Given the description of an element on the screen output the (x, y) to click on. 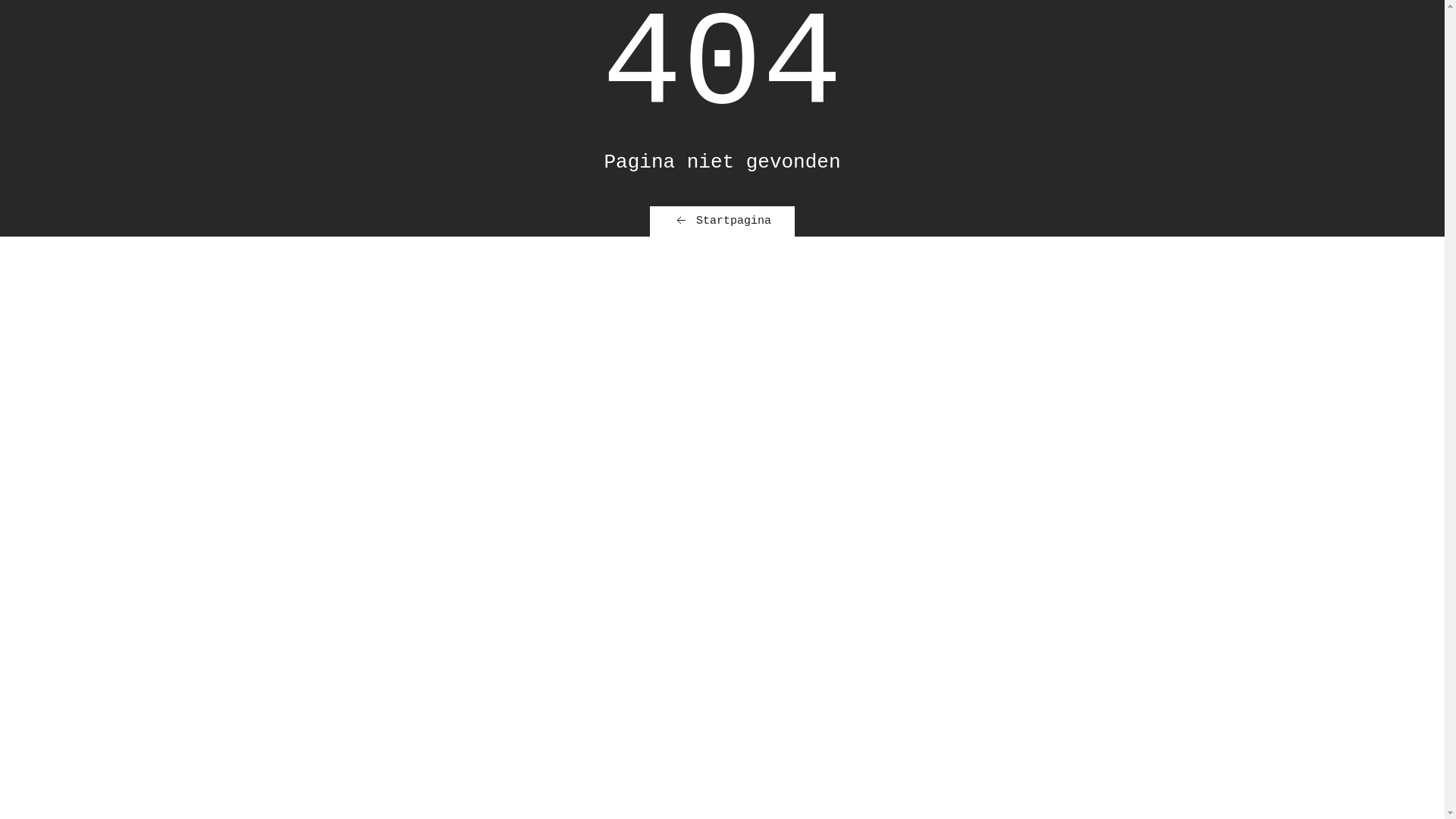
Startpagina Element type: text (721, 221)
